Given the description of an element on the screen output the (x, y) to click on. 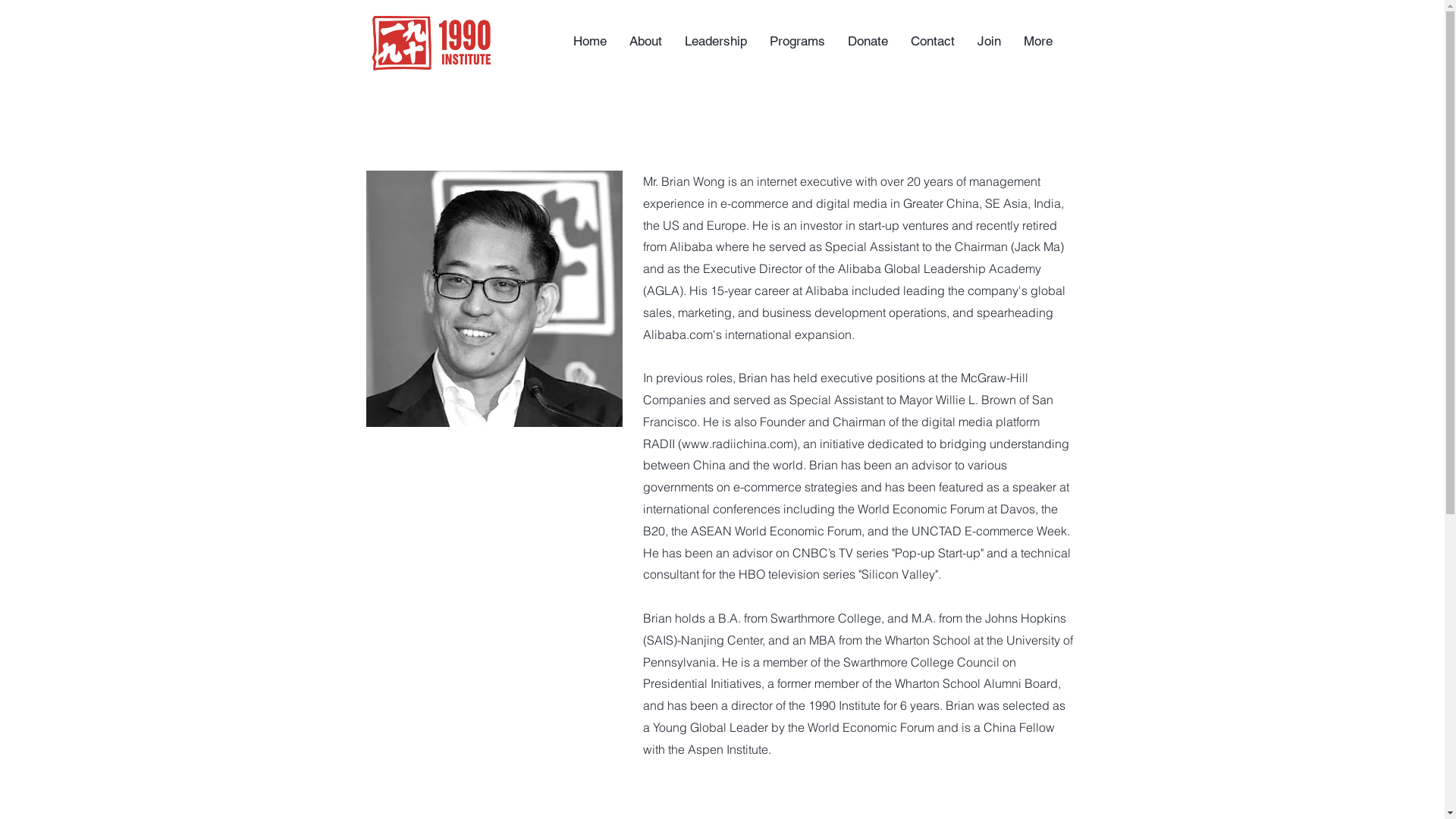
Home Element type: text (589, 40)
Donate Element type: text (866, 40)
About Element type: text (644, 40)
Contact Element type: text (932, 40)
Join Element type: text (989, 40)
brian wong_edited.jpg Element type: hover (493, 298)
Leadership Element type: text (715, 40)
Programs Element type: text (797, 40)
www.radiichina.com Element type: text (736, 443)
